Given the description of an element on the screen output the (x, y) to click on. 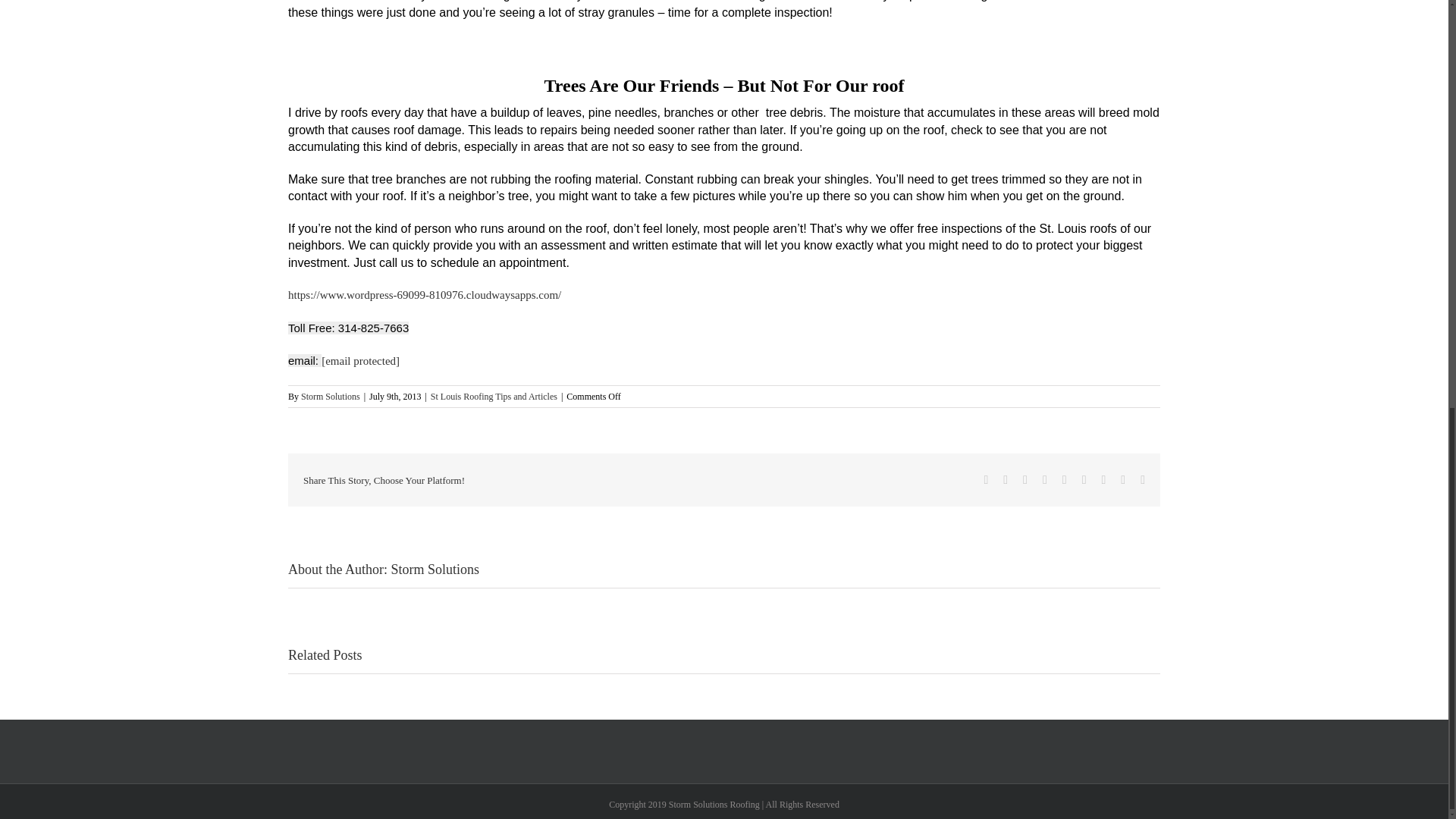
Posts by Storm Solutions (330, 396)
